Given the description of an element on the screen output the (x, y) to click on. 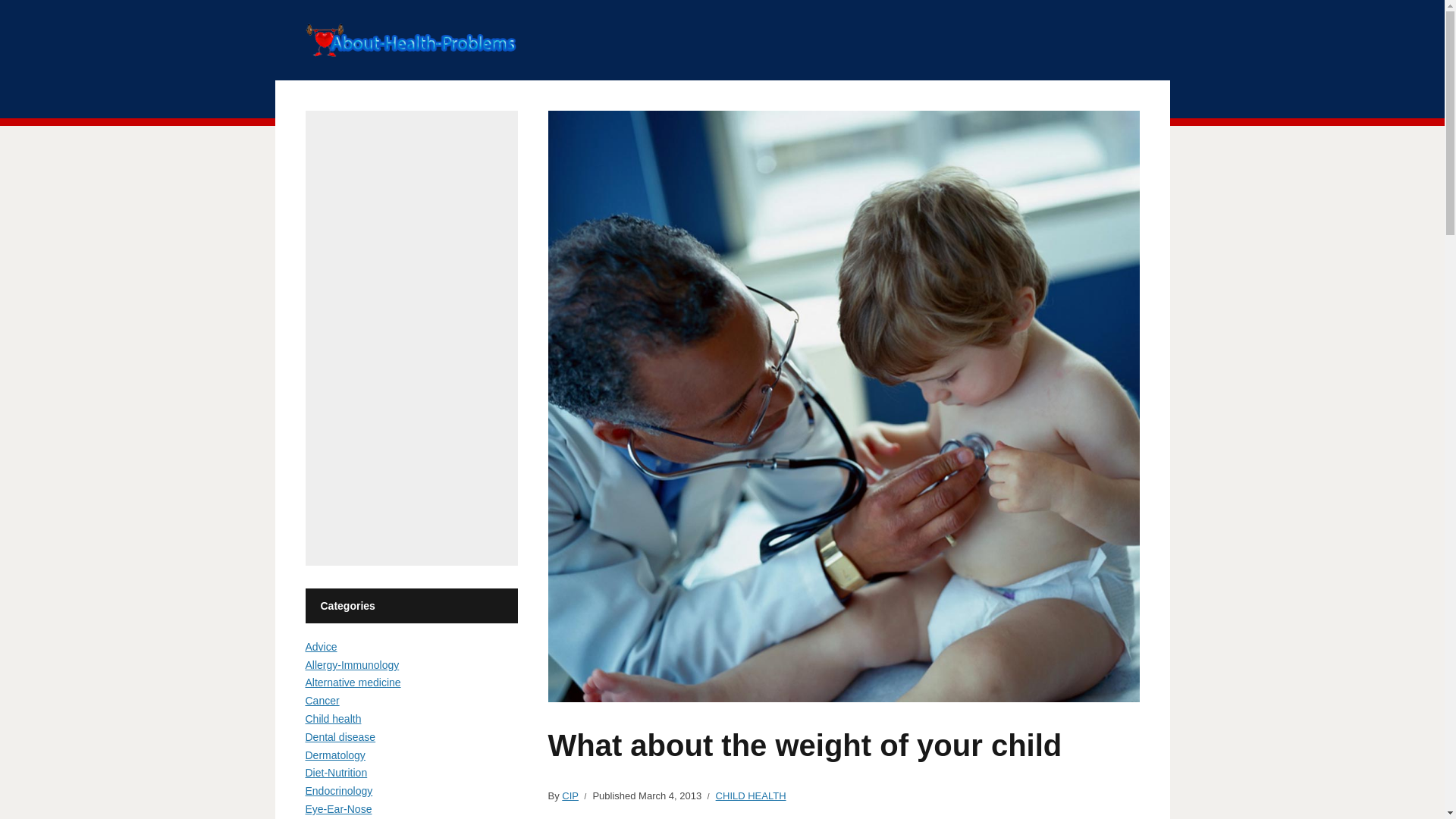
Advice (320, 646)
Dermatology (334, 755)
Dental disease (339, 736)
Cancer (321, 700)
CHILD HEALTH (751, 796)
Posts by cip (570, 796)
Endocrinology (338, 790)
Allergy-Immunology (351, 664)
Diet-Nutrition (335, 772)
Child health (332, 718)
Eye-Ear-Nose (337, 808)
Alternative medicine (352, 682)
CIP (570, 796)
